Given the description of an element on the screen output the (x, y) to click on. 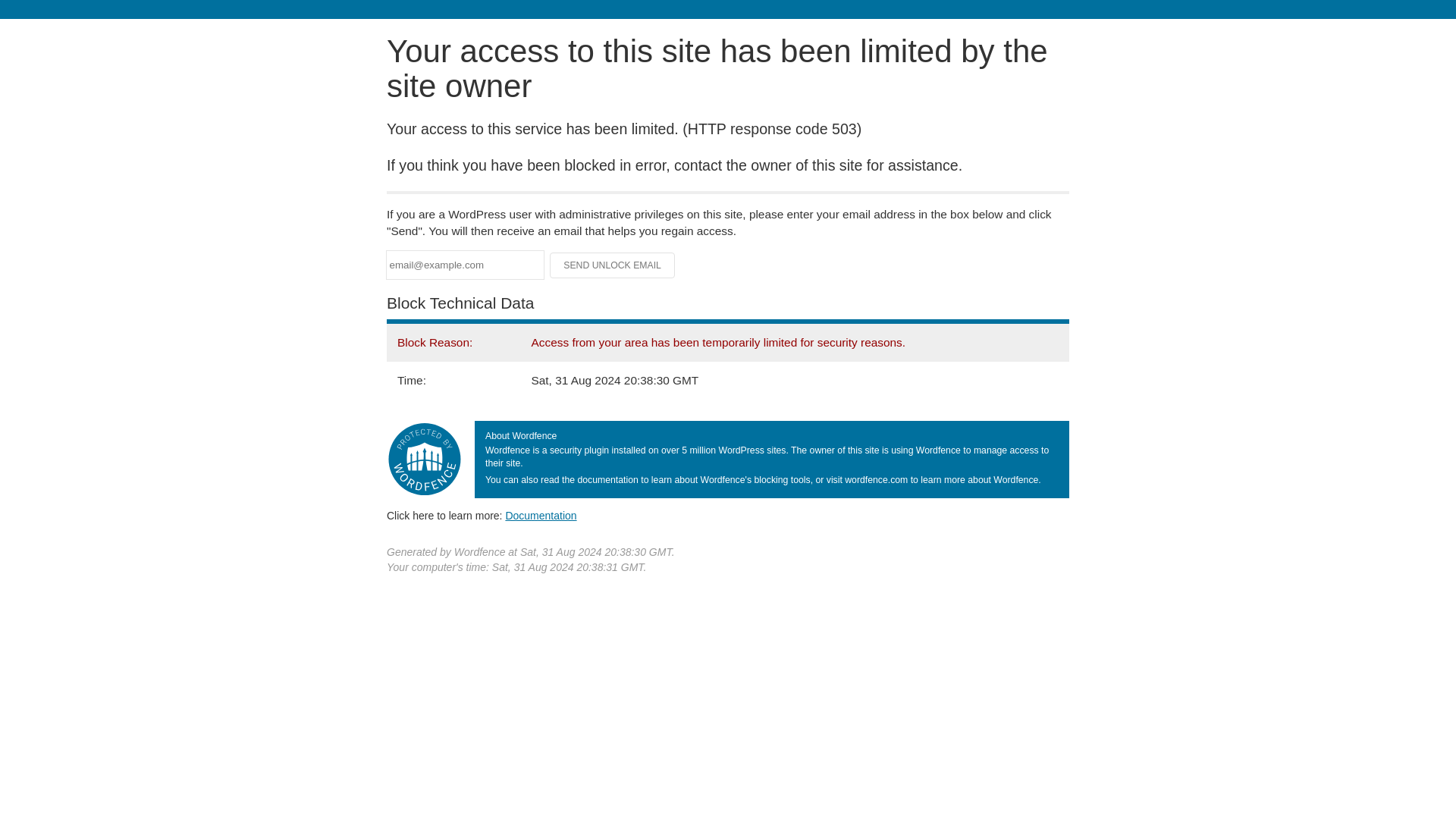
Send Unlock Email (612, 265)
Documentation (540, 515)
Send Unlock Email (612, 265)
